Given the description of an element on the screen output the (x, y) to click on. 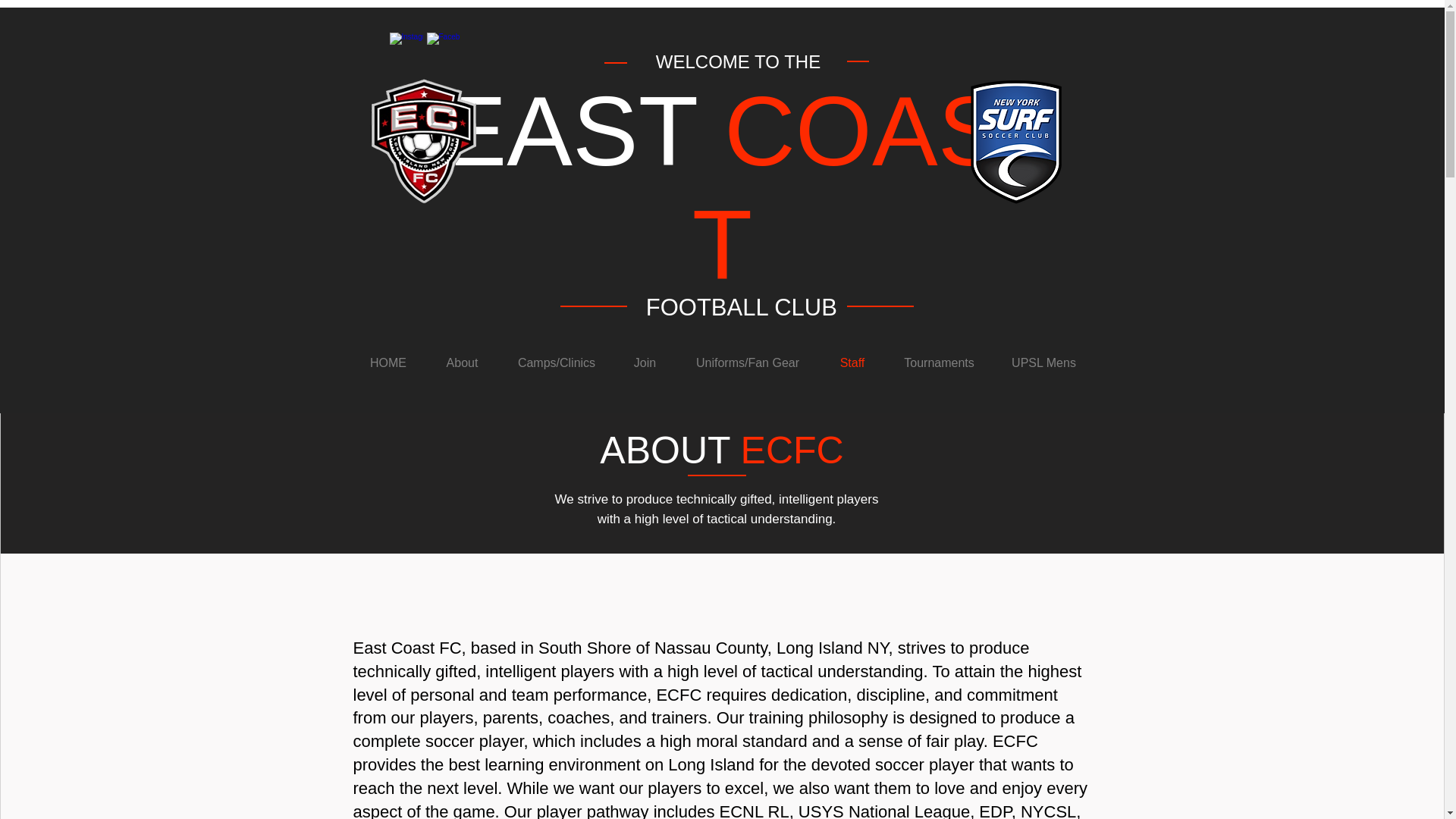
Staff (853, 362)
UPSL Mens (1042, 362)
Tournaments (937, 362)
HOME (387, 362)
About (462, 362)
Join (644, 362)
